Given the description of an element on the screen output the (x, y) to click on. 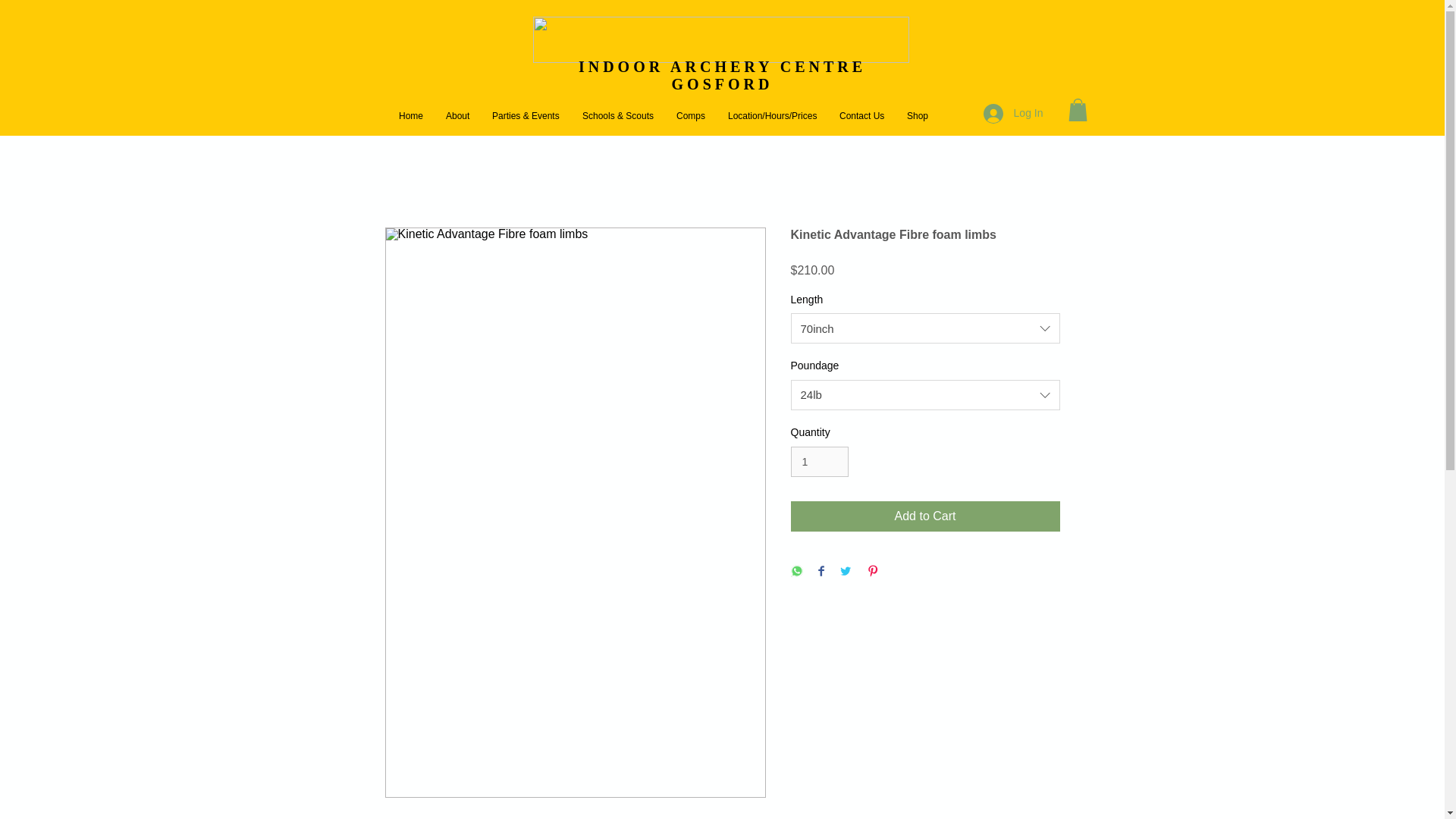
About (456, 115)
Home (410, 115)
Log In (1013, 113)
24lb (924, 395)
Add to Cart (924, 516)
1 (818, 461)
Contact Us (861, 115)
Comps (690, 115)
Shop (917, 115)
70inch (924, 327)
